Given the description of an element on the screen output the (x, y) to click on. 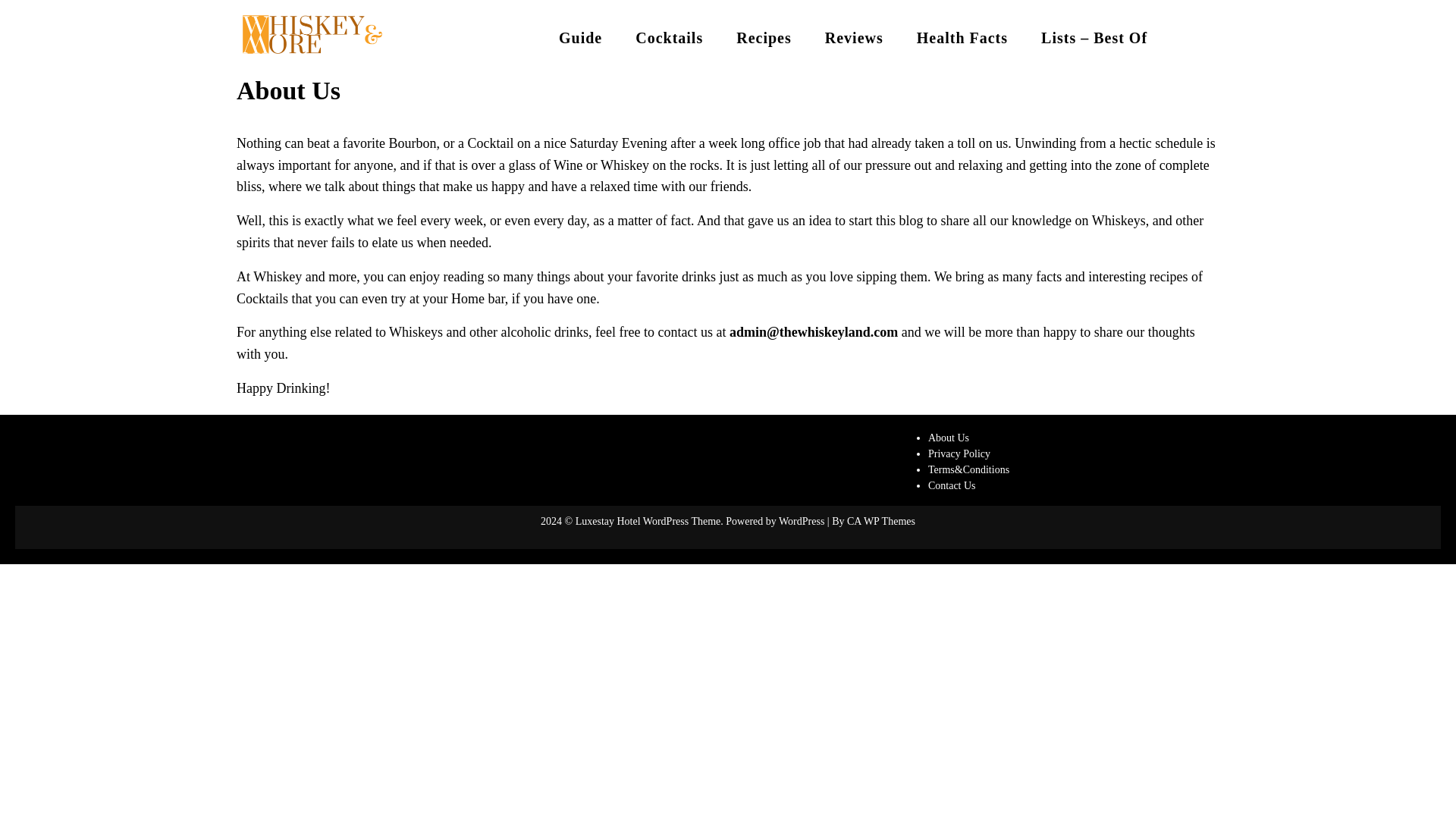
Guide (580, 37)
Contact Us (951, 485)
Privacy Policy (959, 453)
Recipes (763, 37)
About Us (948, 437)
Reviews (853, 37)
Health Facts (962, 37)
Cocktails (668, 37)
CA WP Themes (881, 521)
